Given the description of an element on the screen output the (x, y) to click on. 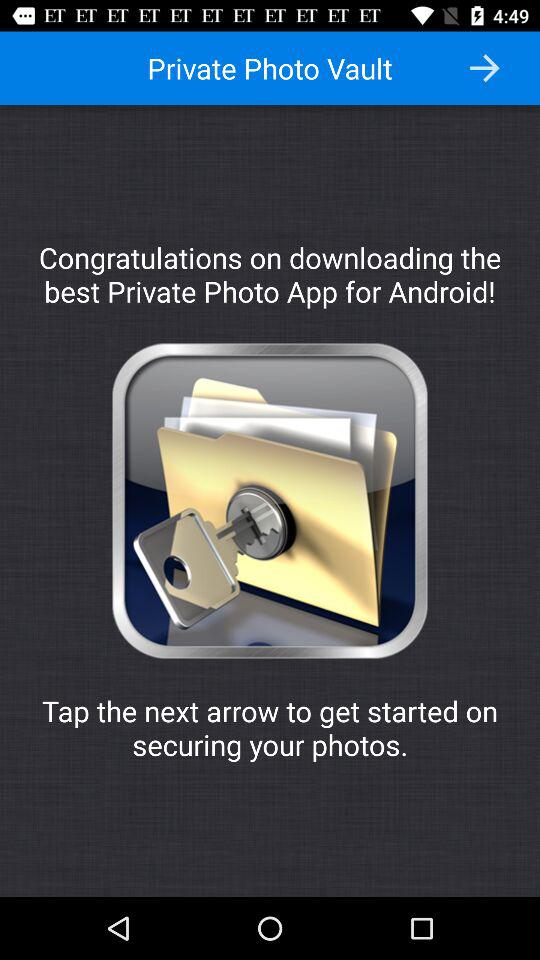
go to previous (484, 68)
